Given the description of an element on the screen output the (x, y) to click on. 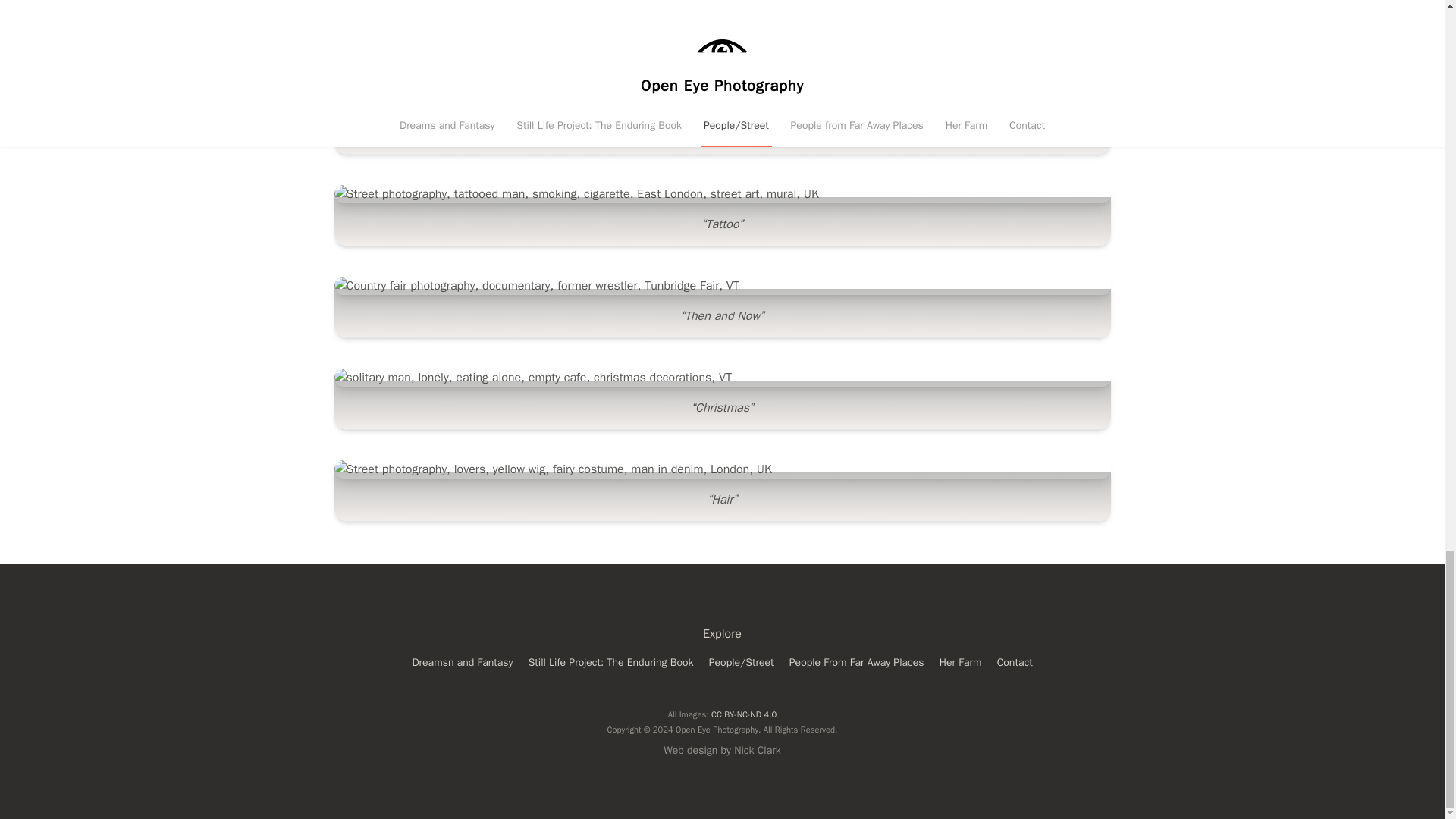
People From Far Away Places (856, 662)
Still Life Project: The Enduring Book (611, 662)
Dreamsn and Fantasy (462, 662)
CC BY-NC-ND 4.0 (743, 713)
Contact (1015, 662)
Her Farm (960, 662)
